Given the description of an element on the screen output the (x, y) to click on. 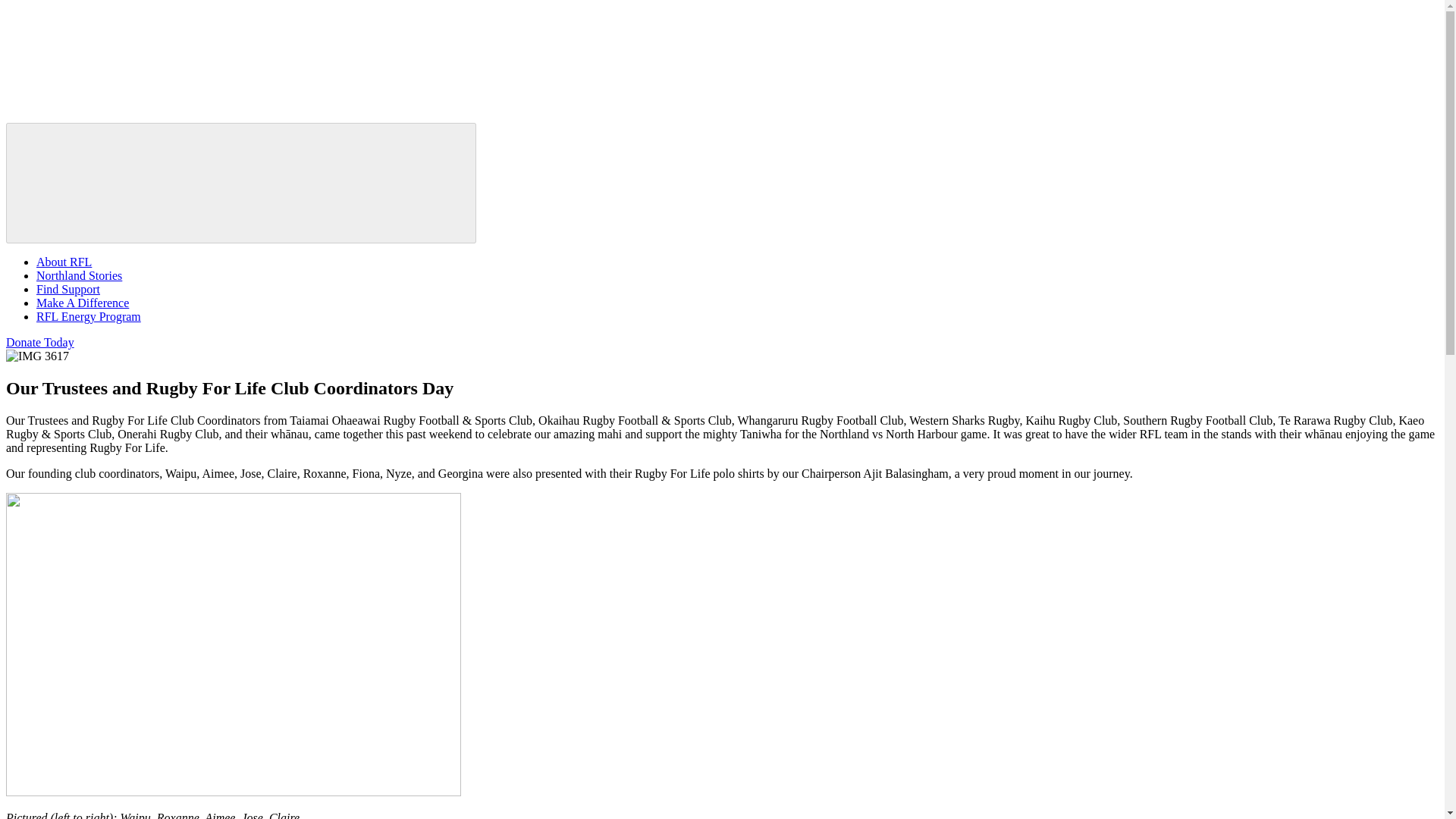
About RFL (63, 261)
Make A Difference (82, 302)
Northland Stories (79, 275)
Find Support (68, 288)
RFL Energy Program (88, 316)
Donate Today (39, 341)
